Given the description of an element on the screen output the (x, y) to click on. 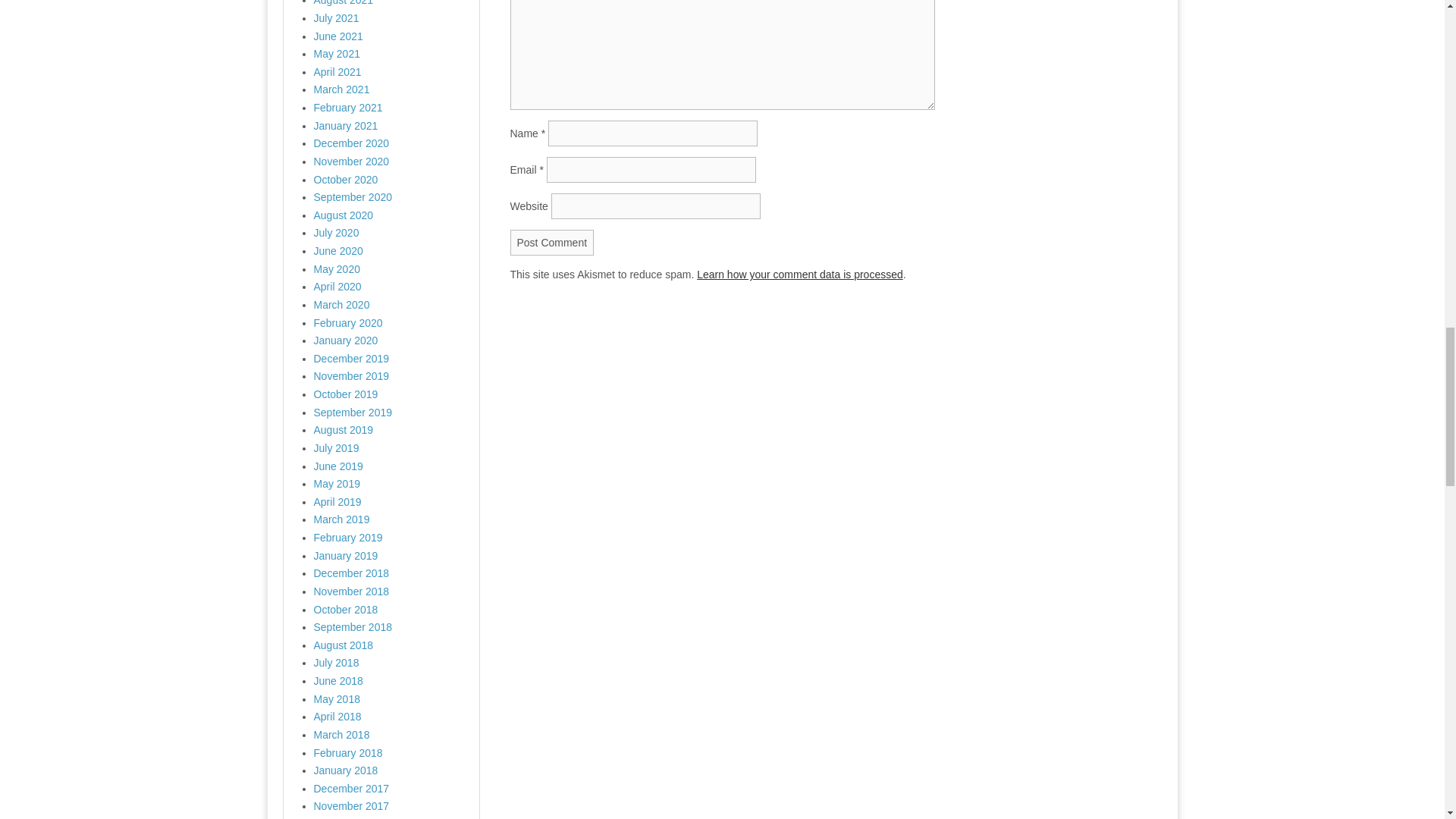
Post Comment (551, 242)
Learn how your comment data is processed (799, 274)
Post Comment (551, 242)
